Given the description of an element on the screen output the (x, y) to click on. 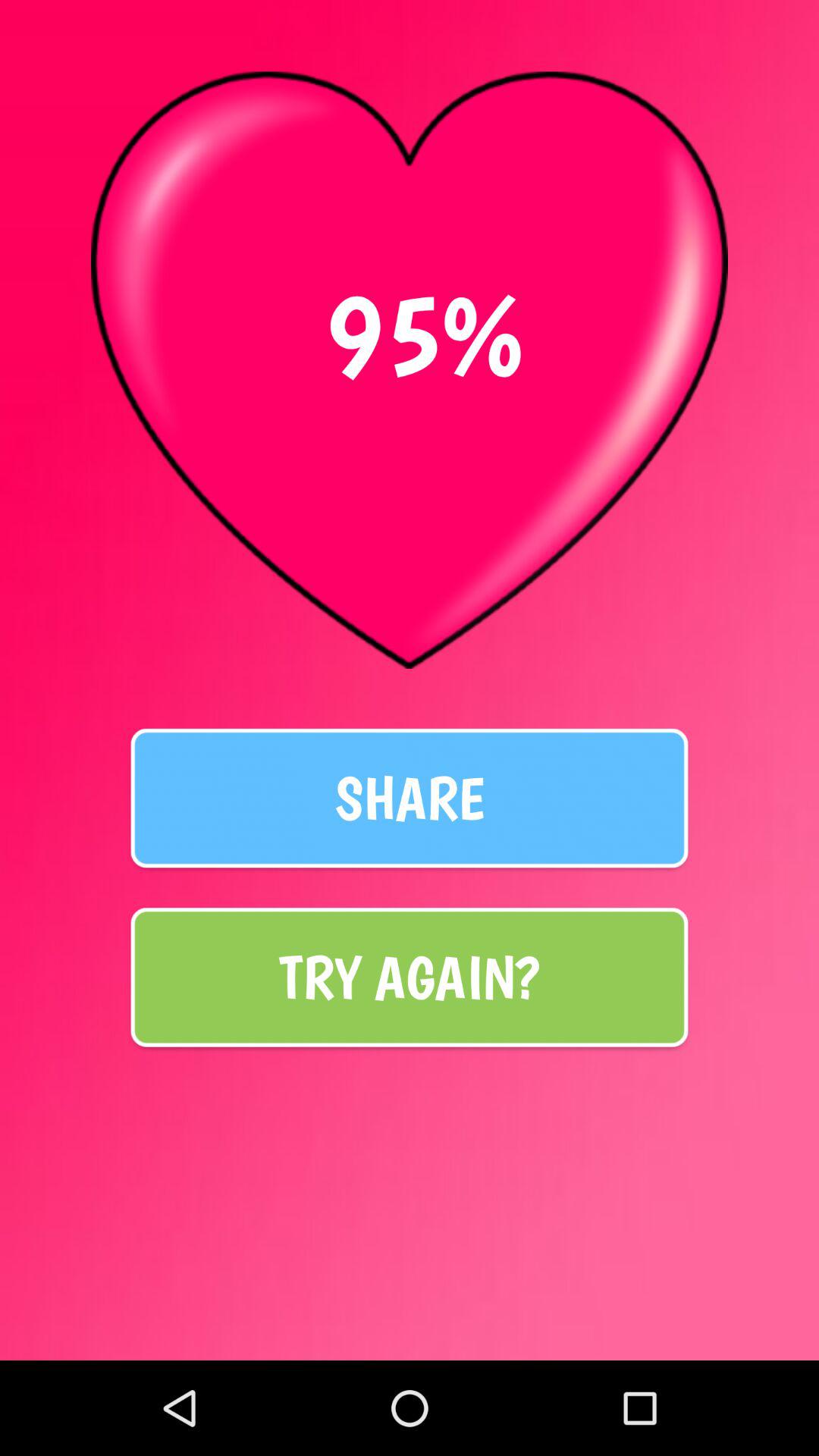
turn off share item (409, 797)
